Given the description of an element on the screen output the (x, y) to click on. 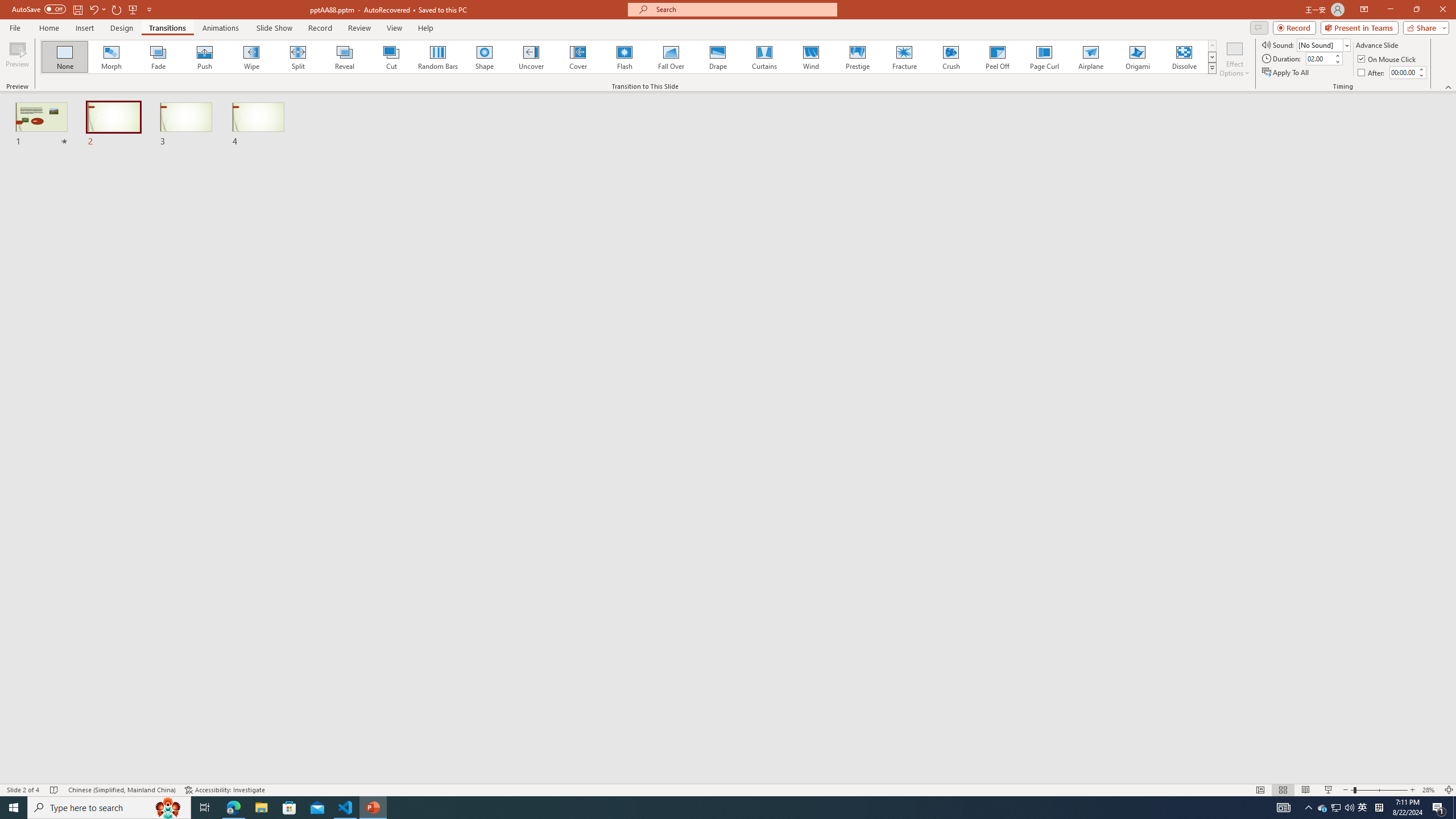
Transition Effects (1212, 67)
Zoom 28% (1430, 790)
Apply To All (1286, 72)
Peel Off (997, 56)
